Given the description of an element on the screen output the (x, y) to click on. 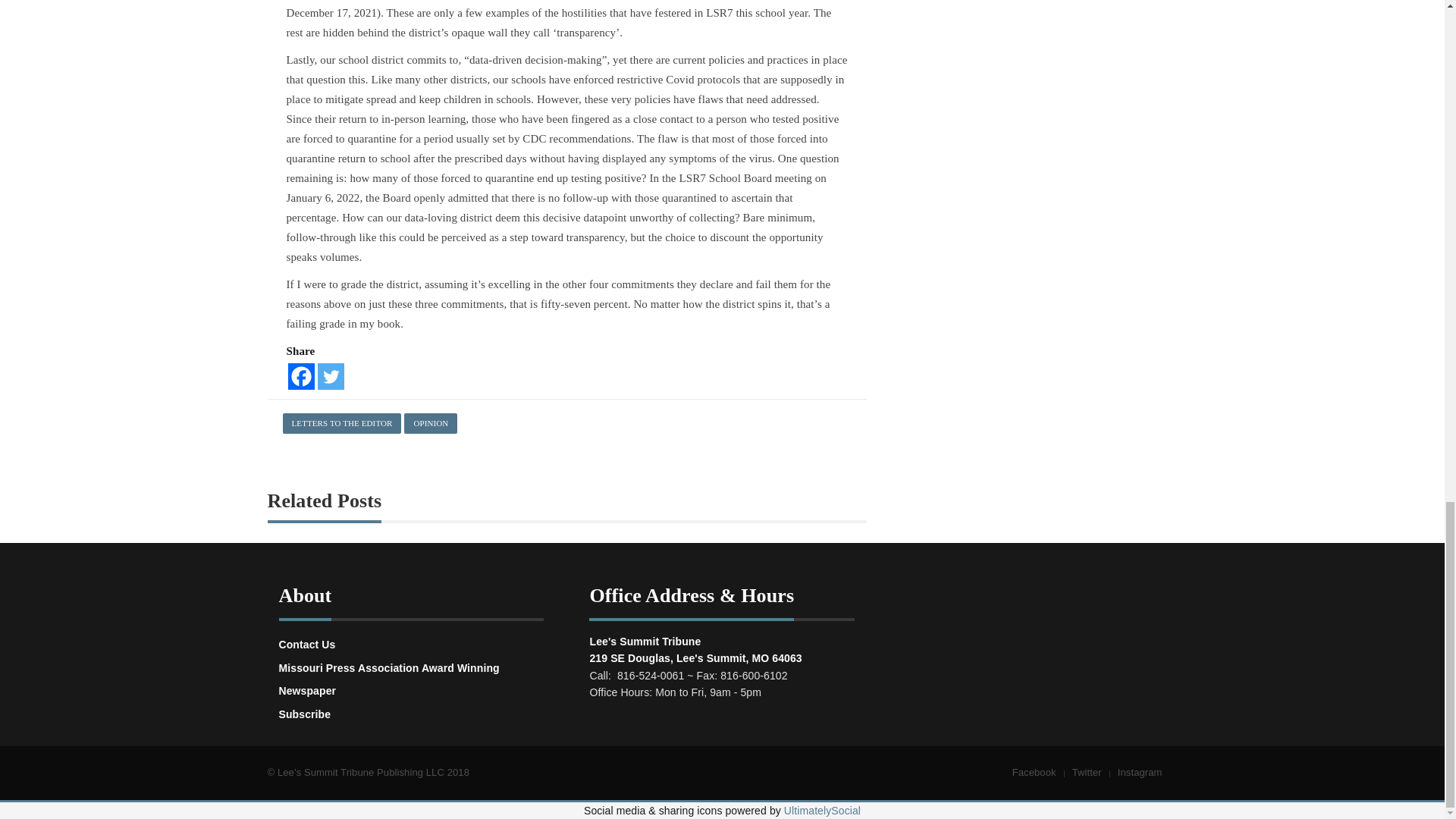
OPINION (430, 423)
LETTERS TO THE EDITOR (341, 423)
Facebook (301, 376)
Twitter (330, 376)
